Given the description of an element on the screen output the (x, y) to click on. 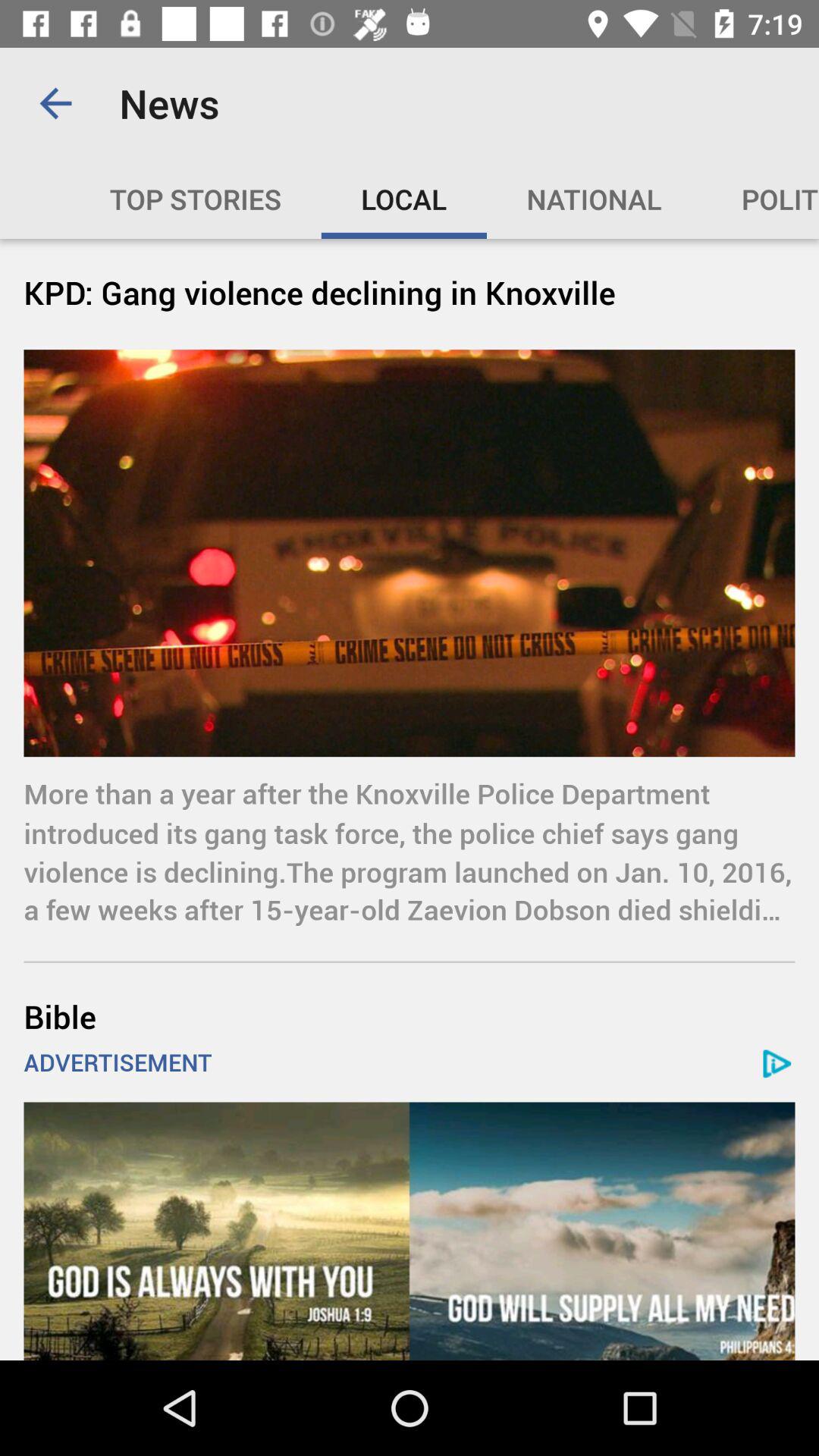
turn on icon next to news item (55, 103)
